Given the description of an element on the screen output the (x, y) to click on. 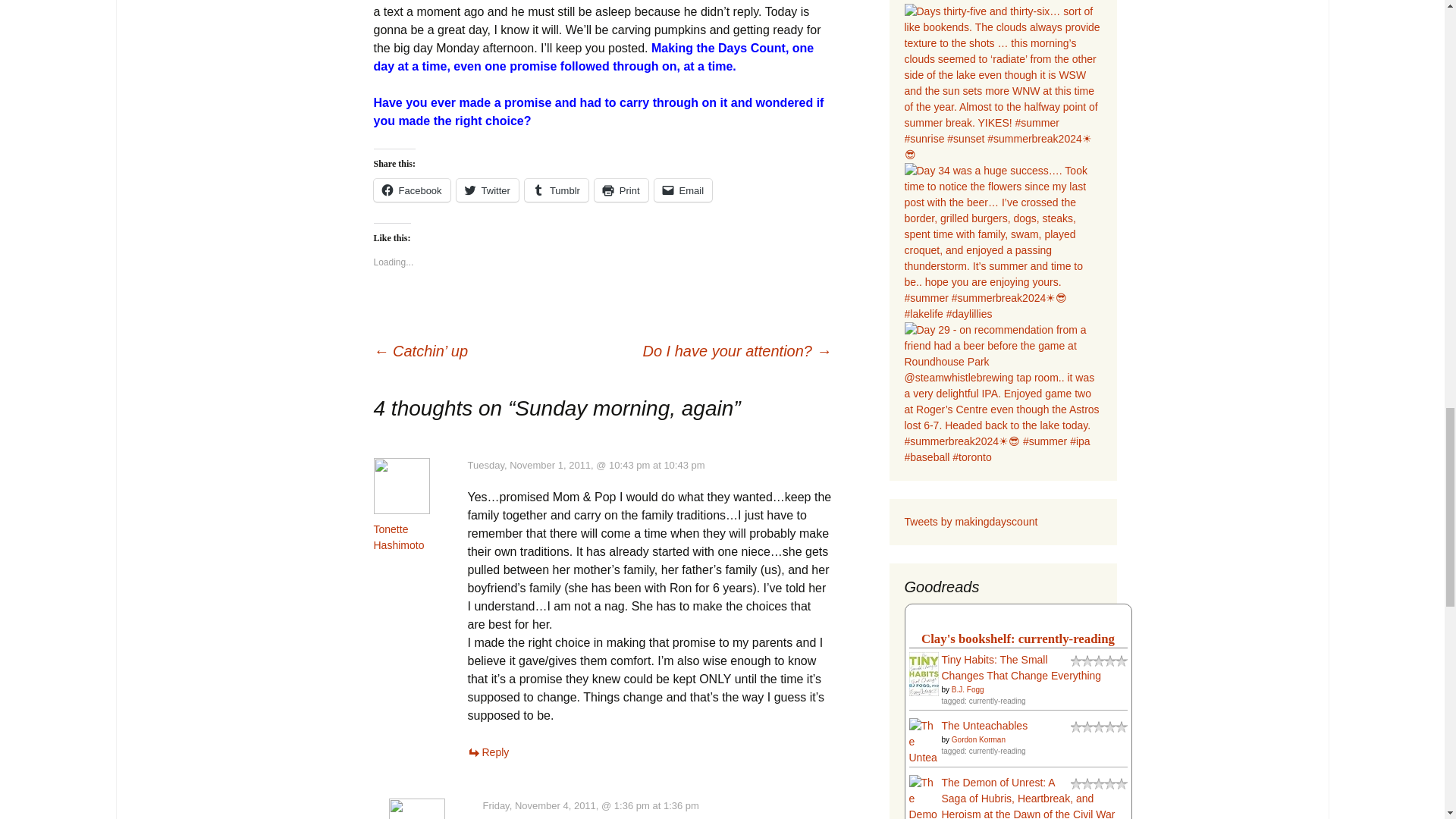
Click to share on Twitter (487, 190)
Click to share on Tumblr (556, 190)
Tiny Habits: The Small Changes That Change Everything (922, 673)
The Unteachables (922, 756)
Click to email a link to a friend (683, 190)
Click to print (620, 190)
Twitter (487, 190)
Facebook (410, 190)
Click to share on Facebook (410, 190)
